Given the description of an element on the screen output the (x, y) to click on. 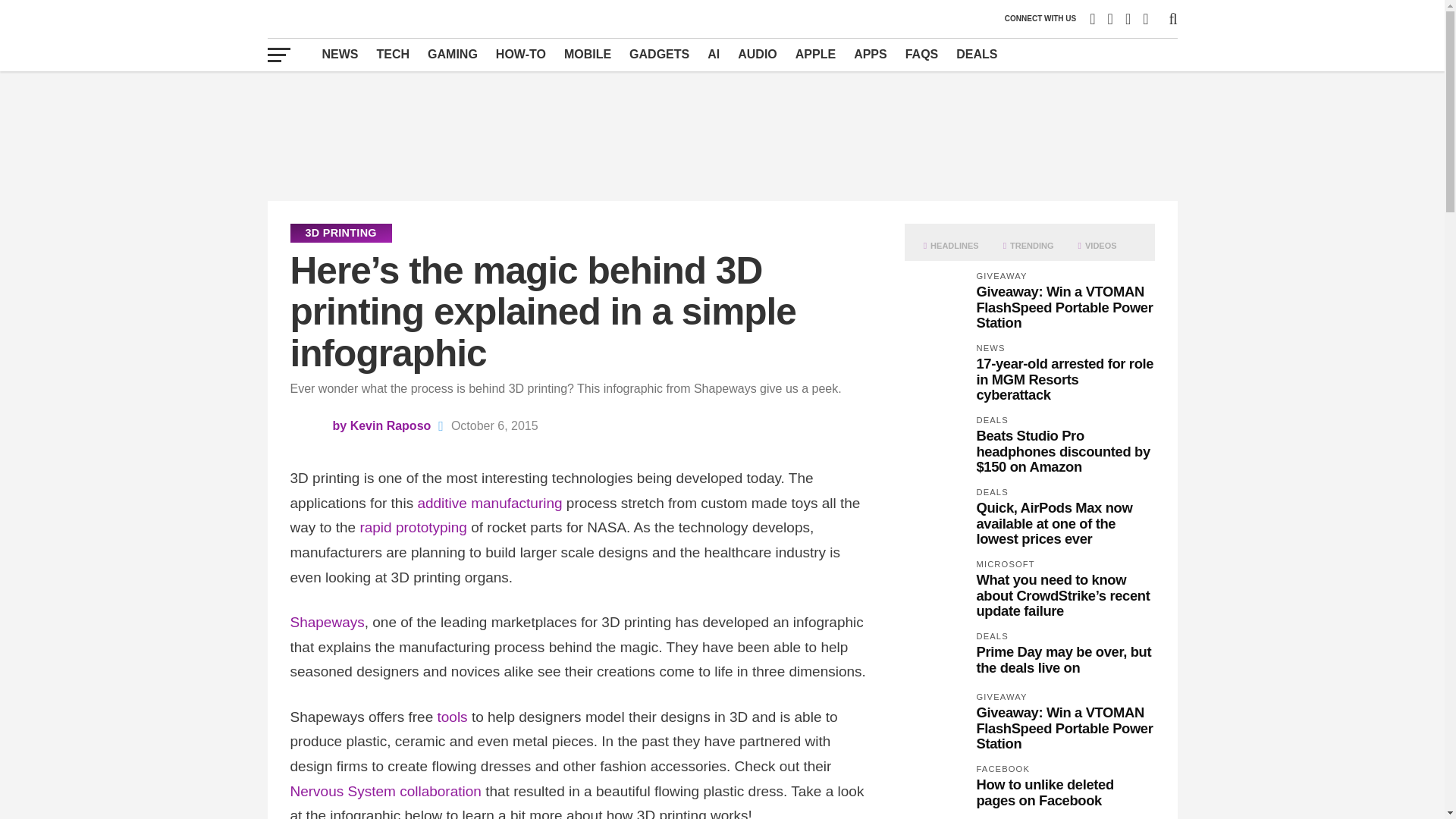
GAMING (452, 54)
AI (713, 54)
HOW-TO (520, 54)
APPLE (815, 54)
rapid prototyping (413, 527)
MOBILE (587, 54)
additive manufacturing (489, 503)
AUDIO (757, 54)
DEALS (976, 54)
Kevin Raposo (390, 425)
GADGETS (659, 54)
FAQS (921, 54)
TECH (392, 54)
NEWS (339, 54)
Posts by Kevin Raposo (390, 425)
